Given the description of an element on the screen output the (x, y) to click on. 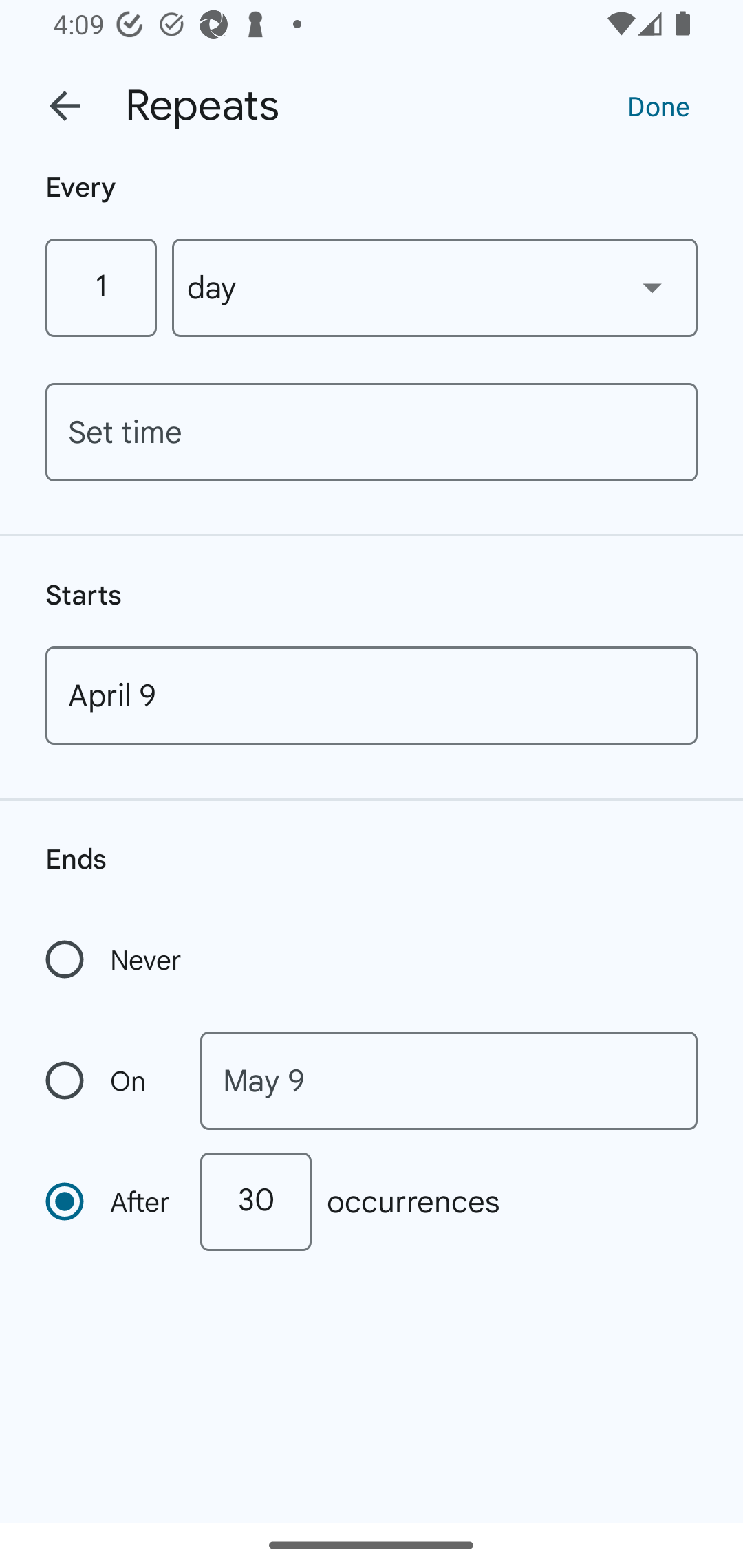
Back (64, 105)
Done (658, 105)
1 (100, 287)
day (434, 287)
Show dropdown menu (652, 286)
Set time (371, 431)
April 9 (371, 695)
Never Recurrence never ends (115, 959)
May 9 (448, 1080)
On Recurrence ends on a specific date (109, 1080)
30 (255, 1201)
